Given the description of an element on the screen output the (x, y) to click on. 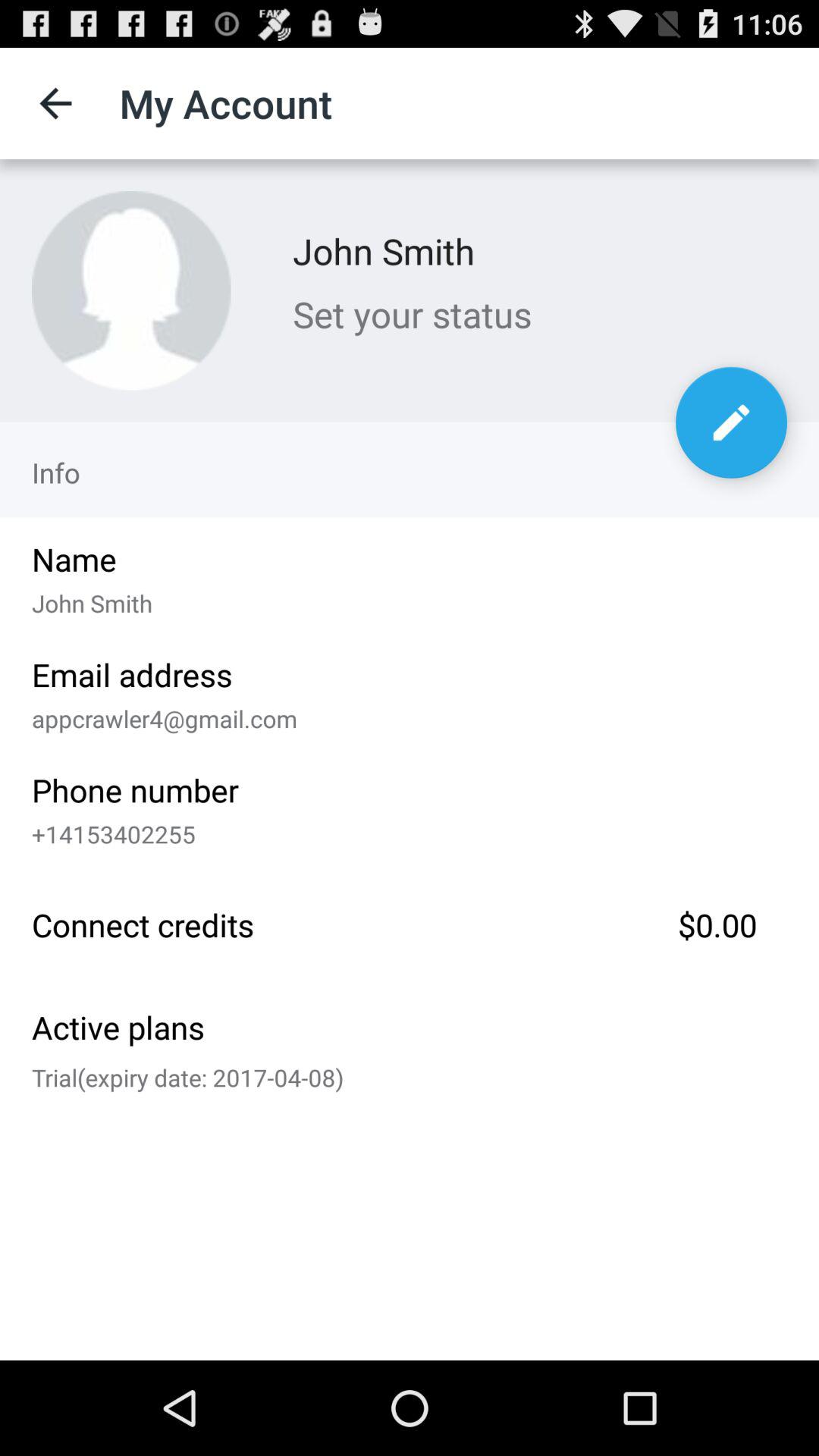
open the item above connect credits item (403, 830)
